Given the description of an element on the screen output the (x, y) to click on. 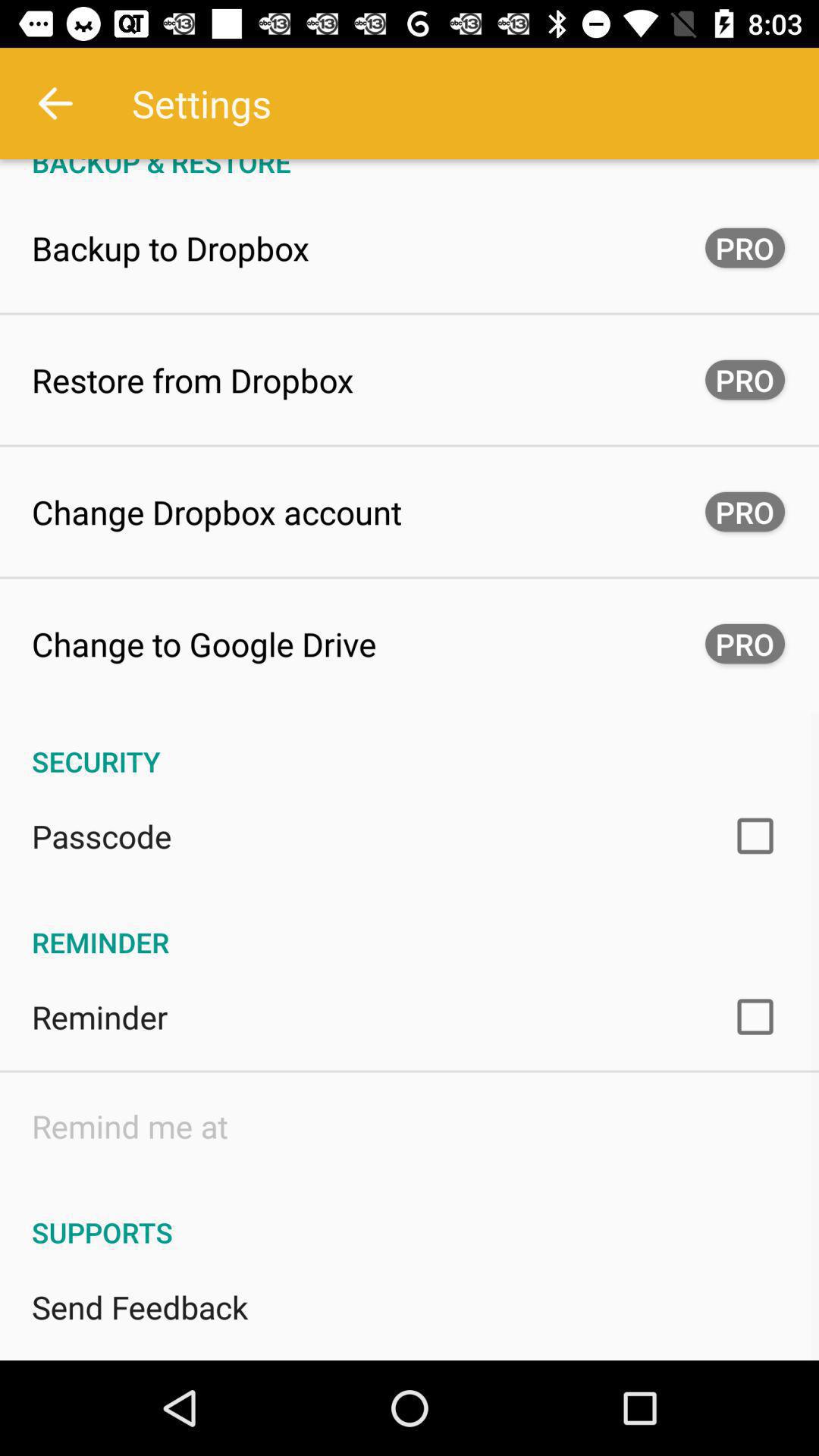
open icon above the backup & restore (55, 103)
